Given the description of an element on the screen output the (x, y) to click on. 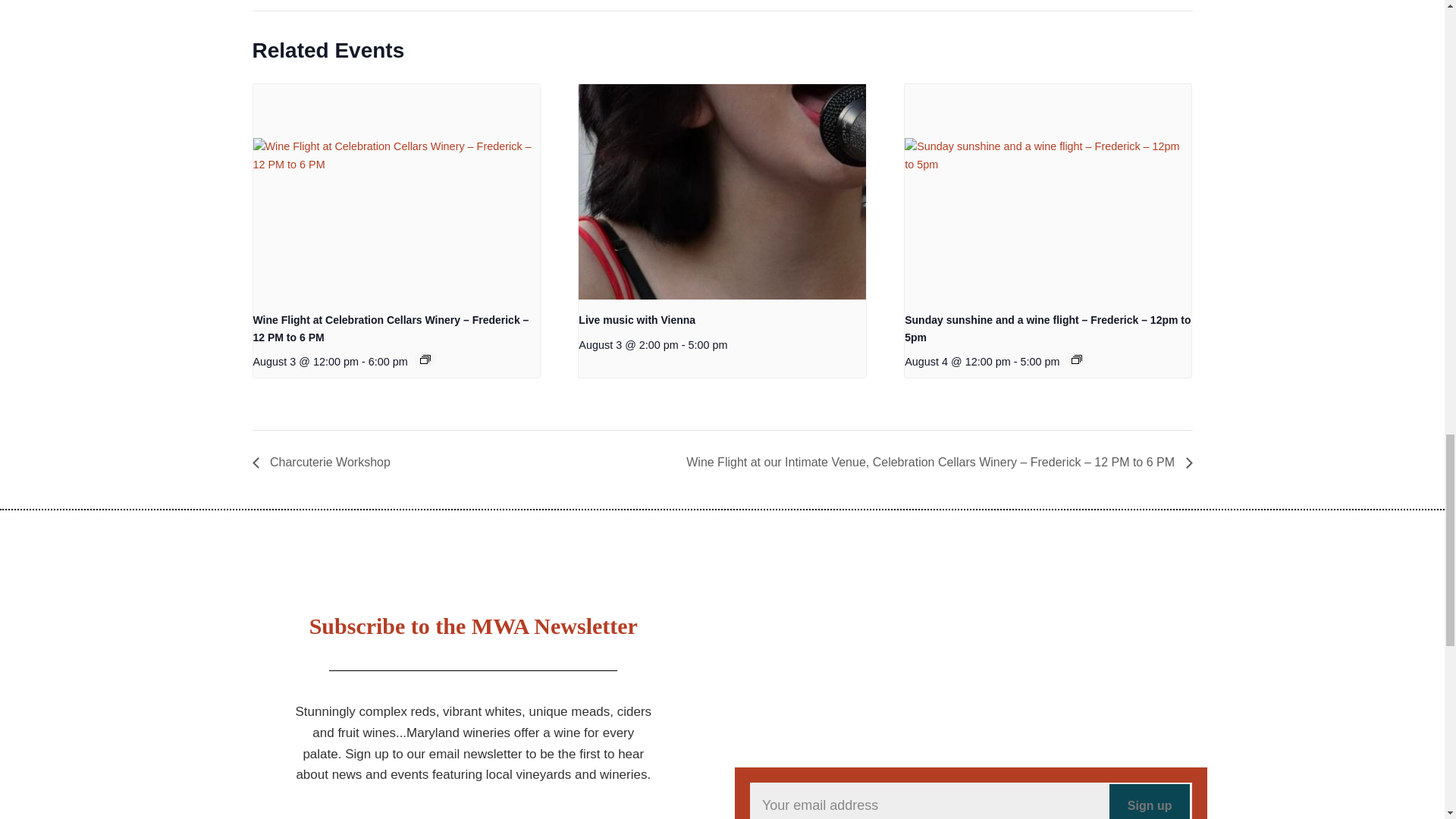
Event Series (425, 358)
Event Series (1076, 358)
Sign up (1150, 801)
